Given the description of an element on the screen output the (x, y) to click on. 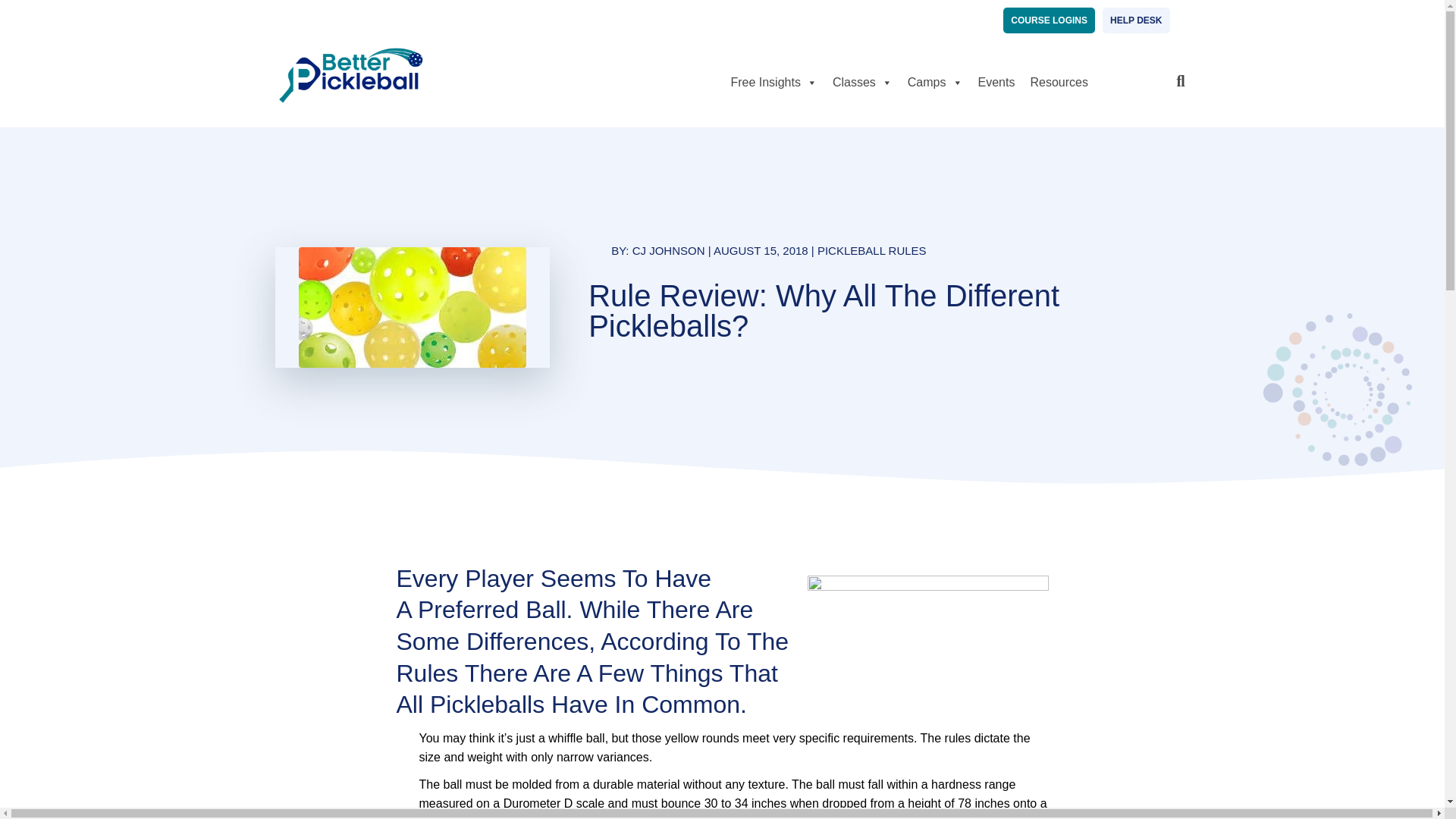
Camps (935, 81)
Resources (1058, 81)
different-pickleballs (411, 307)
THE Pickleball System (350, 74)
COURSE LOGINS (1048, 20)
Classes (862, 81)
HELP DESK (1135, 20)
Events (997, 81)
Free Insights (773, 81)
PICKLEBALL RULES (871, 250)
